Given the description of an element on the screen output the (x, y) to click on. 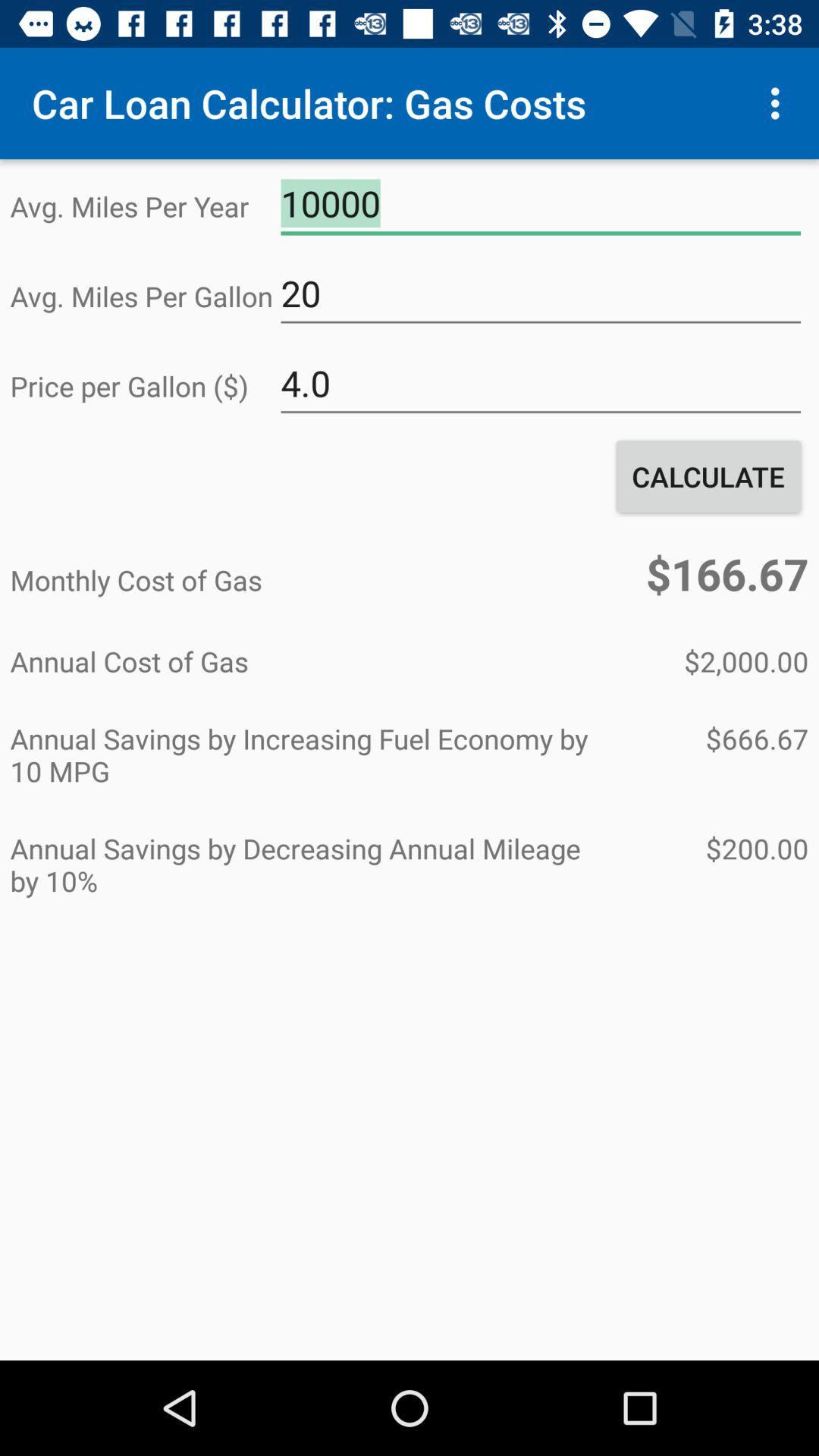
tap item to the right of the price per gallon ($) icon (540, 383)
